Given the description of an element on the screen output the (x, y) to click on. 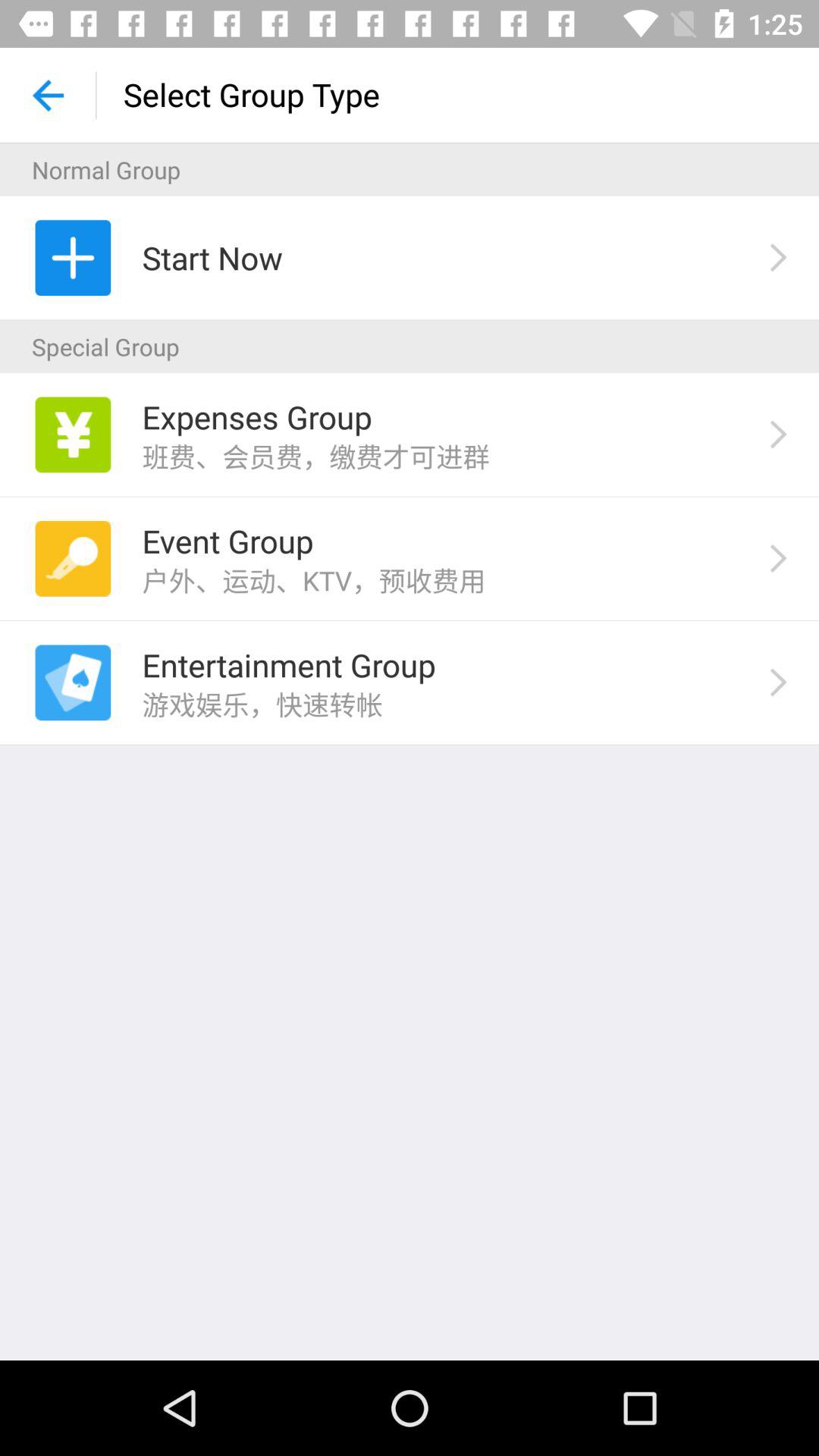
select the right arrow beside start now (778, 257)
